Given the description of an element on the screen output the (x, y) to click on. 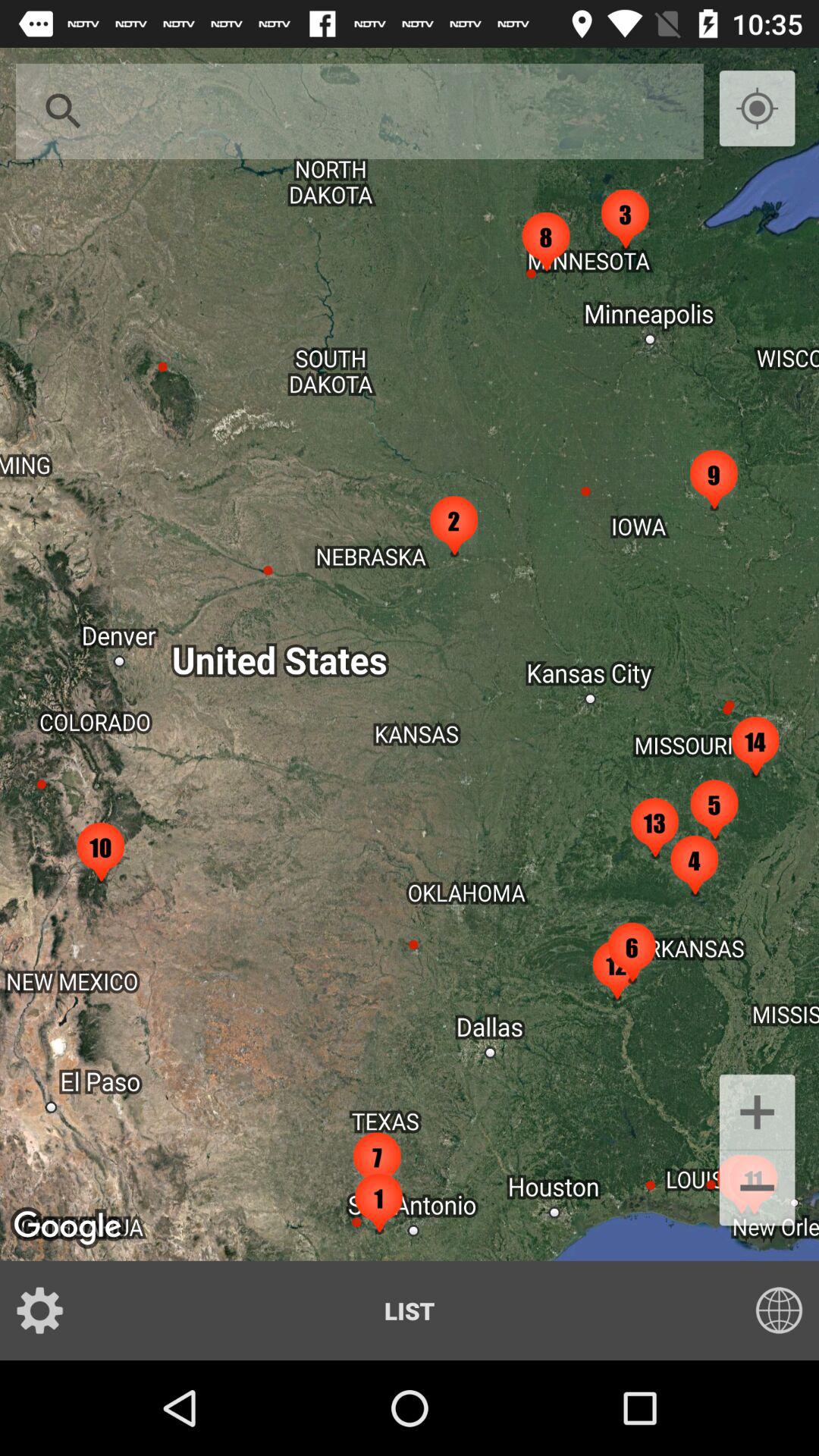
turn on button next to the list (49, 1310)
